Given the description of an element on the screen output the (x, y) to click on. 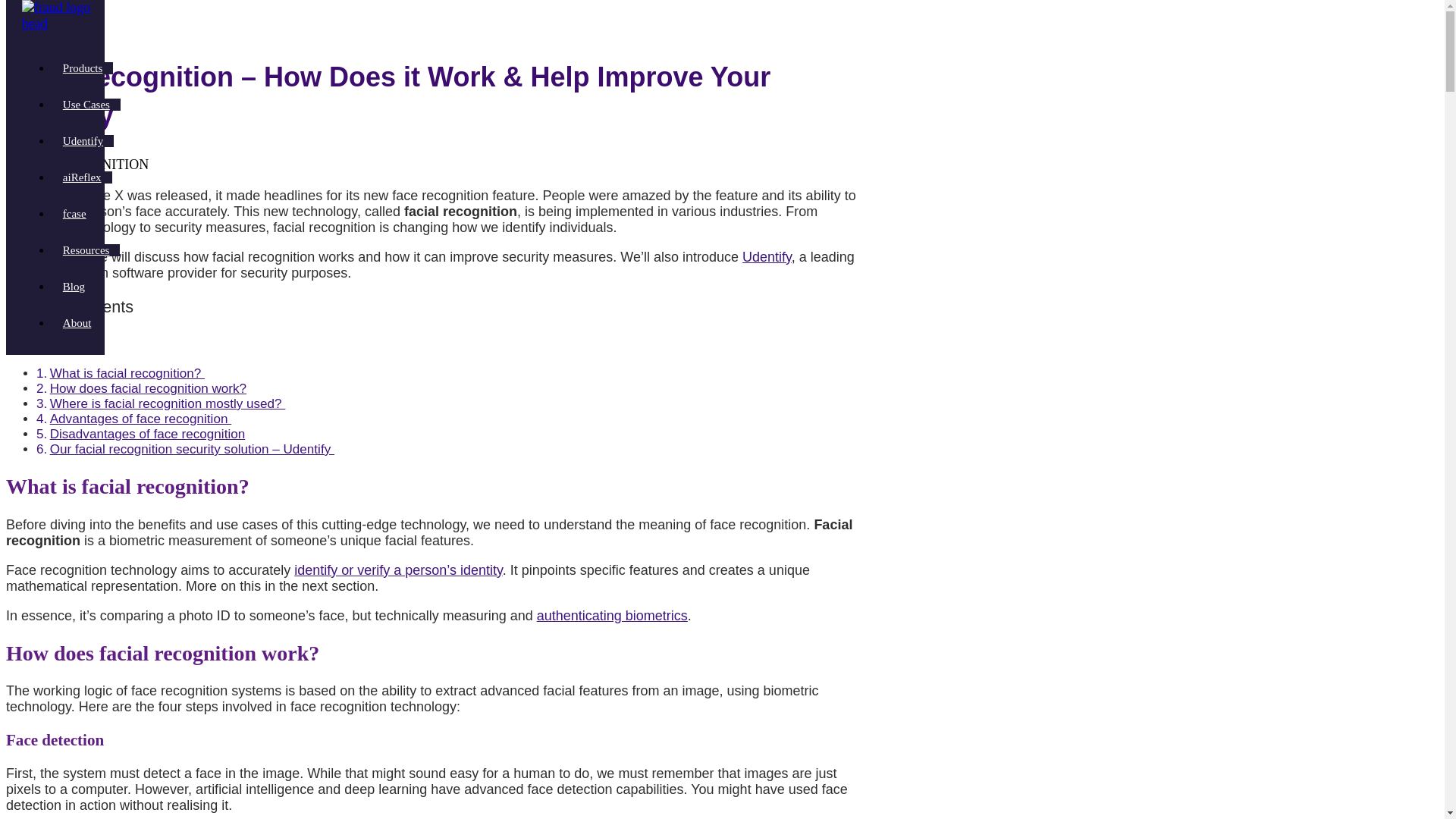
Advantages of face recognition  (140, 418)
Glossary: Deep Learning (384, 789)
Where is facial recognition mostly used?  (167, 403)
How does facial recognition work? (147, 388)
authenticating biometrics (612, 615)
Glossary: Facial Recognition (324, 227)
Disadvantages of face recognition (147, 433)
How does facial recognition work? (147, 388)
About (76, 322)
fcase (74, 214)
Resources (86, 250)
What is facial recognition?  (127, 373)
Disadvantages of face recognition (147, 433)
Skip to content (46, 13)
